Given the description of an element on the screen output the (x, y) to click on. 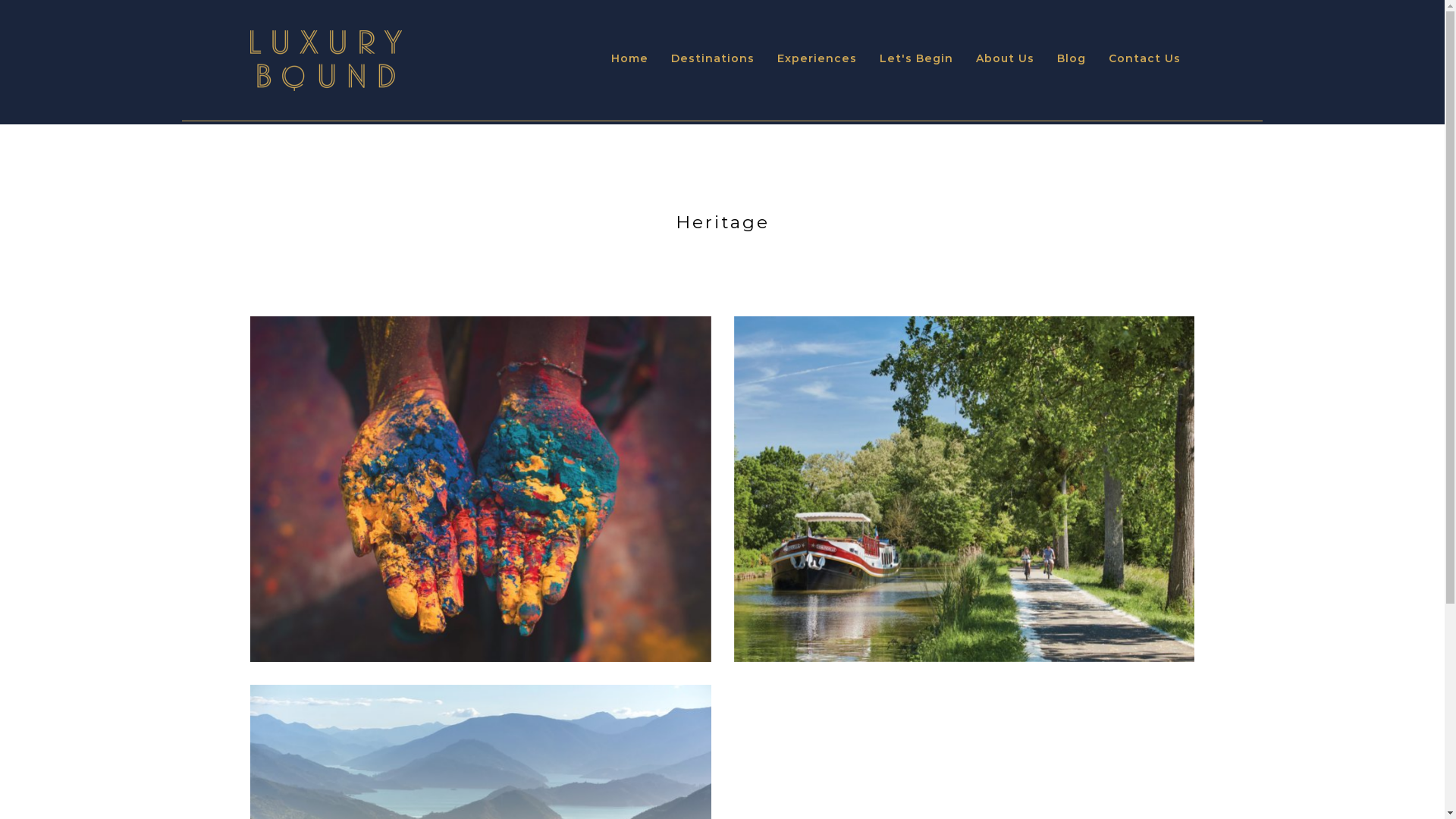
Contact Us Element type: text (1144, 59)
Blog Element type: text (1071, 59)
Let's Begin Element type: text (916, 59)
Experiences Element type: text (816, 59)
About Us Element type: text (1005, 59)
Home Element type: text (629, 59)
Destinations Element type: text (712, 59)
